Given the description of an element on the screen output the (x, y) to click on. 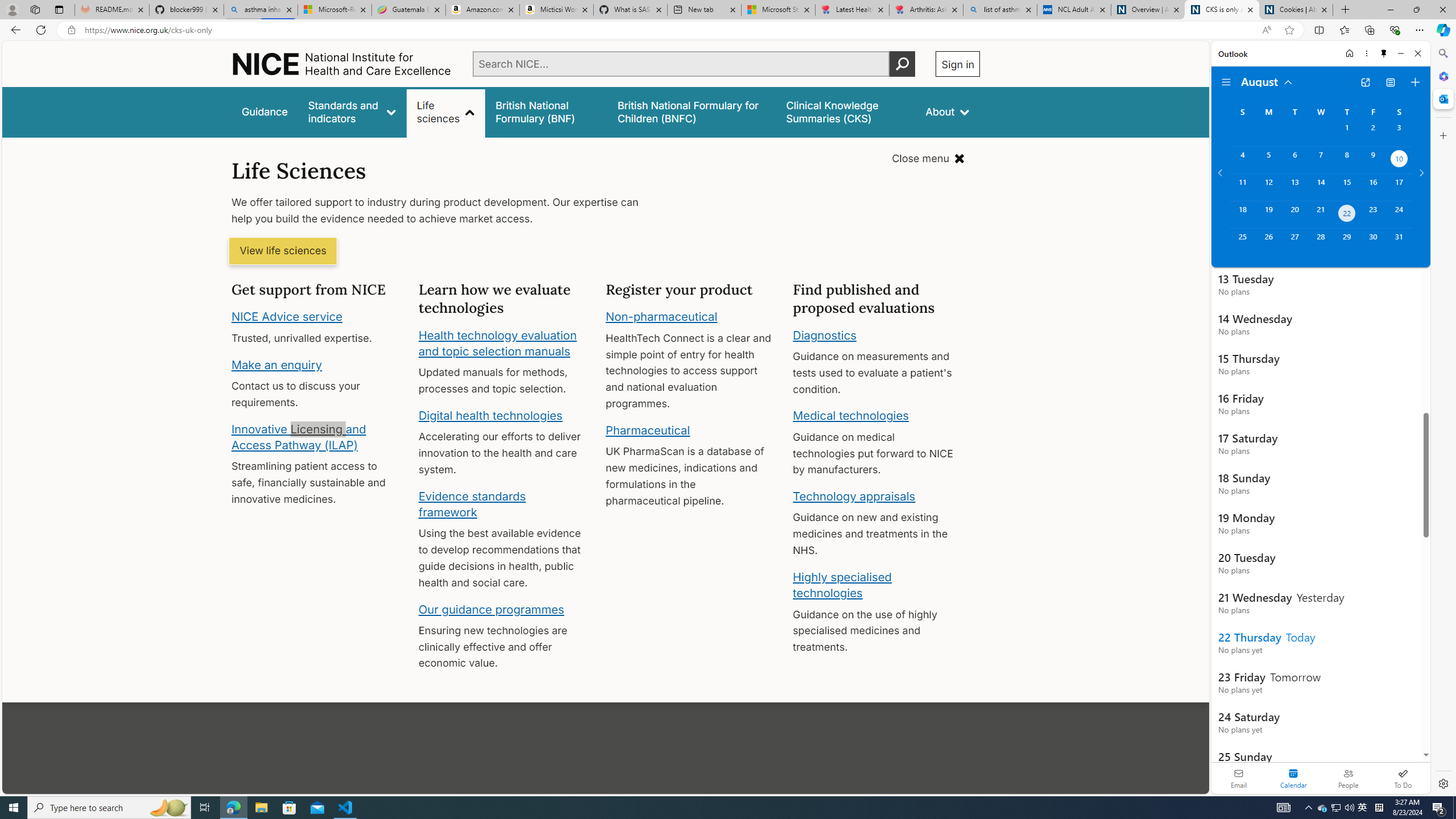
Non-pharmaceutical (661, 316)
Thursday, August 22, 2024. Today.  (1346, 214)
Friday, August 2, 2024.  (1372, 132)
Saturday, August 3, 2024.  (1399, 132)
Sign in (957, 63)
Guidance (264, 111)
Microsoft 365 (1442, 76)
To Do (1402, 777)
